Given the description of an element on the screen output the (x, y) to click on. 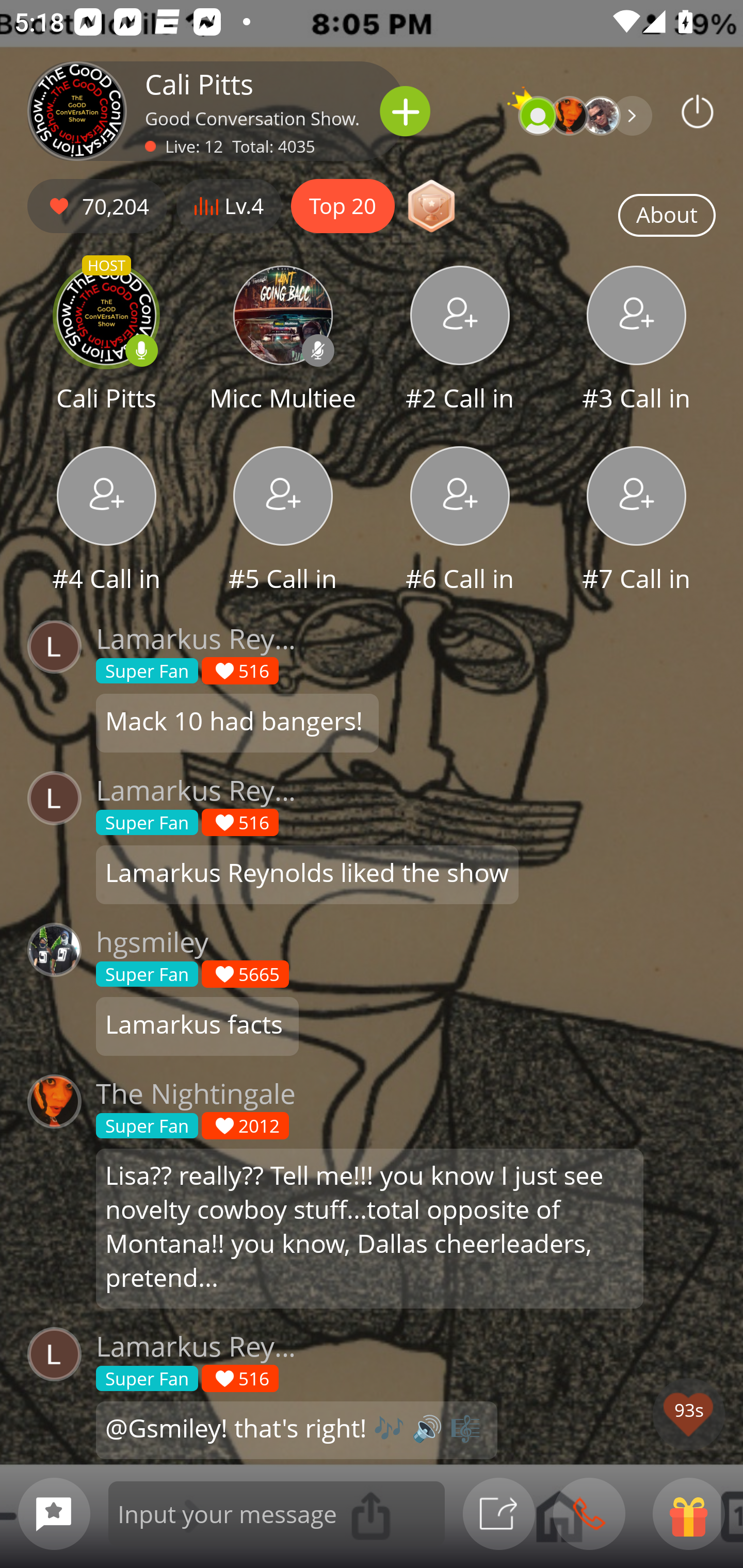
Podbean (697, 111)
About (666, 215)
HOST Cali Pitts (105, 340)
Micc Multiee (282, 340)
#2 Call in (459, 340)
#3 Call in (636, 340)
#4 Call in (105, 521)
#5 Call in (282, 521)
#6 Call in (459, 521)
#7 Call in (636, 521)
Input your message (276, 1513)
